Given the description of an element on the screen output the (x, y) to click on. 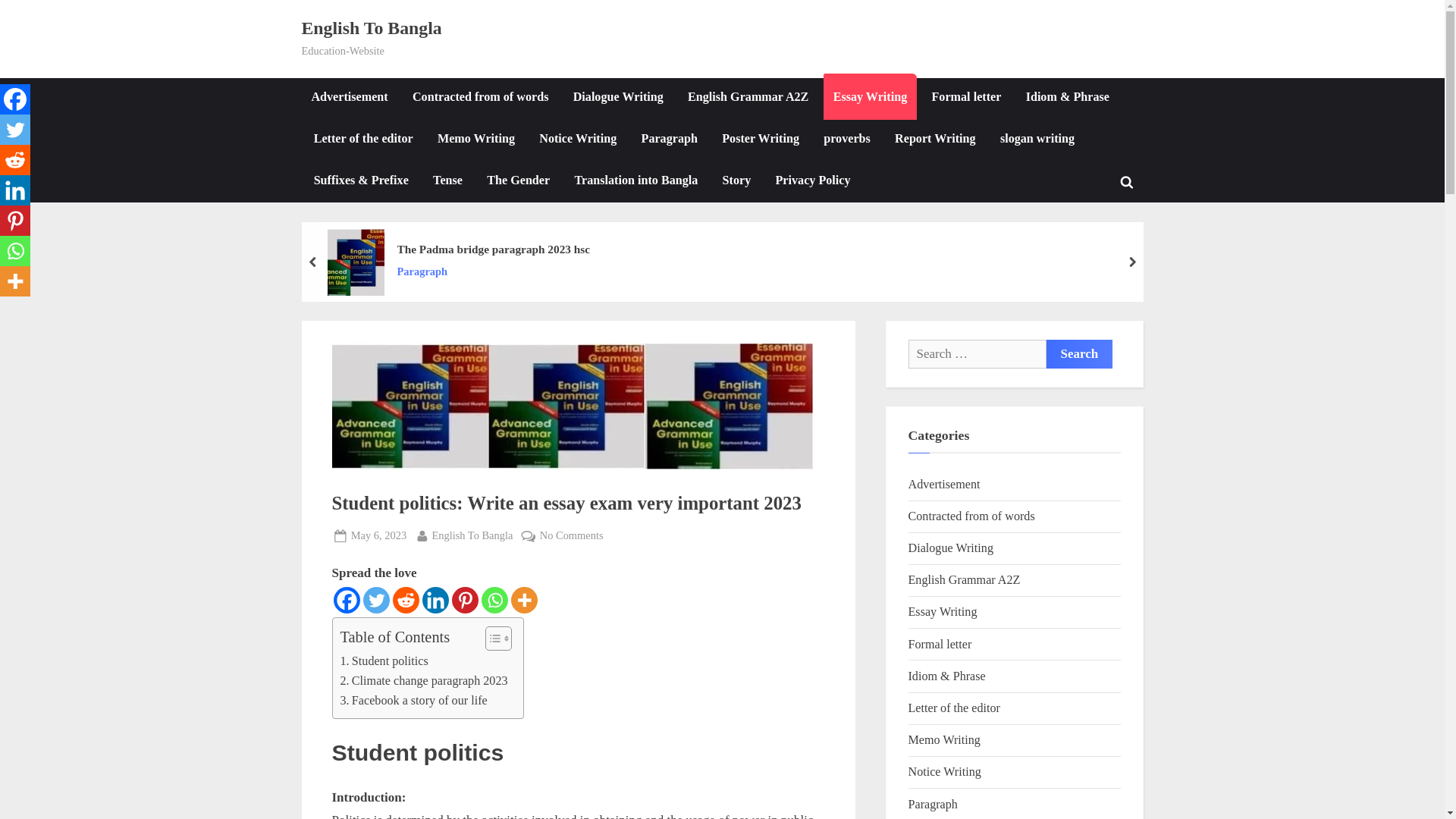
Notice Writing (577, 140)
Tense (447, 182)
Reddit (406, 600)
English To Bangla (371, 27)
Report Writing (935, 140)
slogan writing (1037, 140)
The Padma bridge paragraph 2023 hsc (492, 249)
Toggle search form (1126, 181)
Memo Writing (476, 140)
Twitter (375, 600)
